Given the description of an element on the screen output the (x, y) to click on. 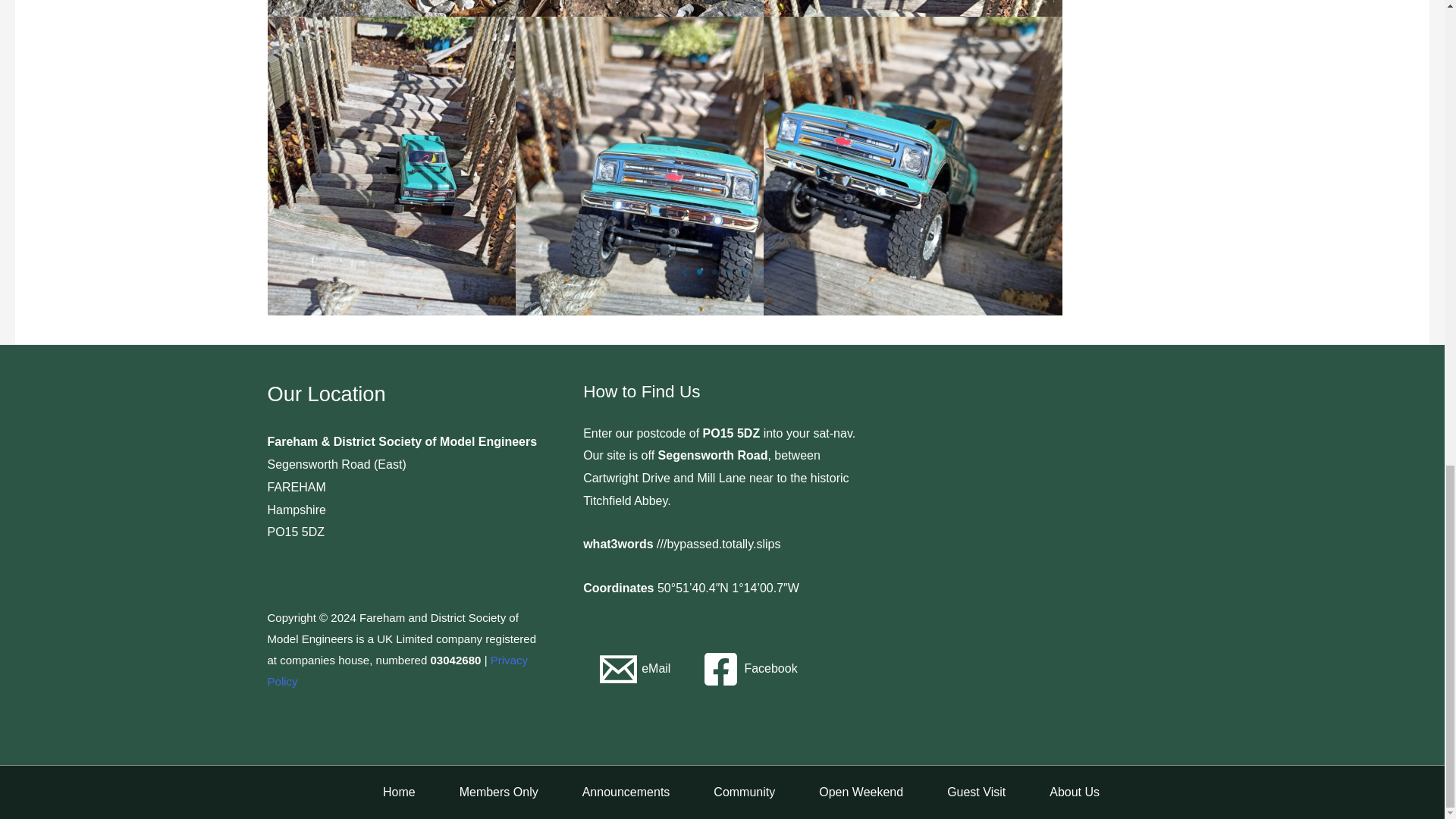
Members Only (483, 792)
Home (383, 792)
eMail (634, 668)
Guest Visit (959, 792)
Open Weekend (844, 792)
Privacy Policy (396, 670)
Announcements (610, 792)
Community (727, 792)
Facebook (748, 668)
